Given the description of an element on the screen output the (x, y) to click on. 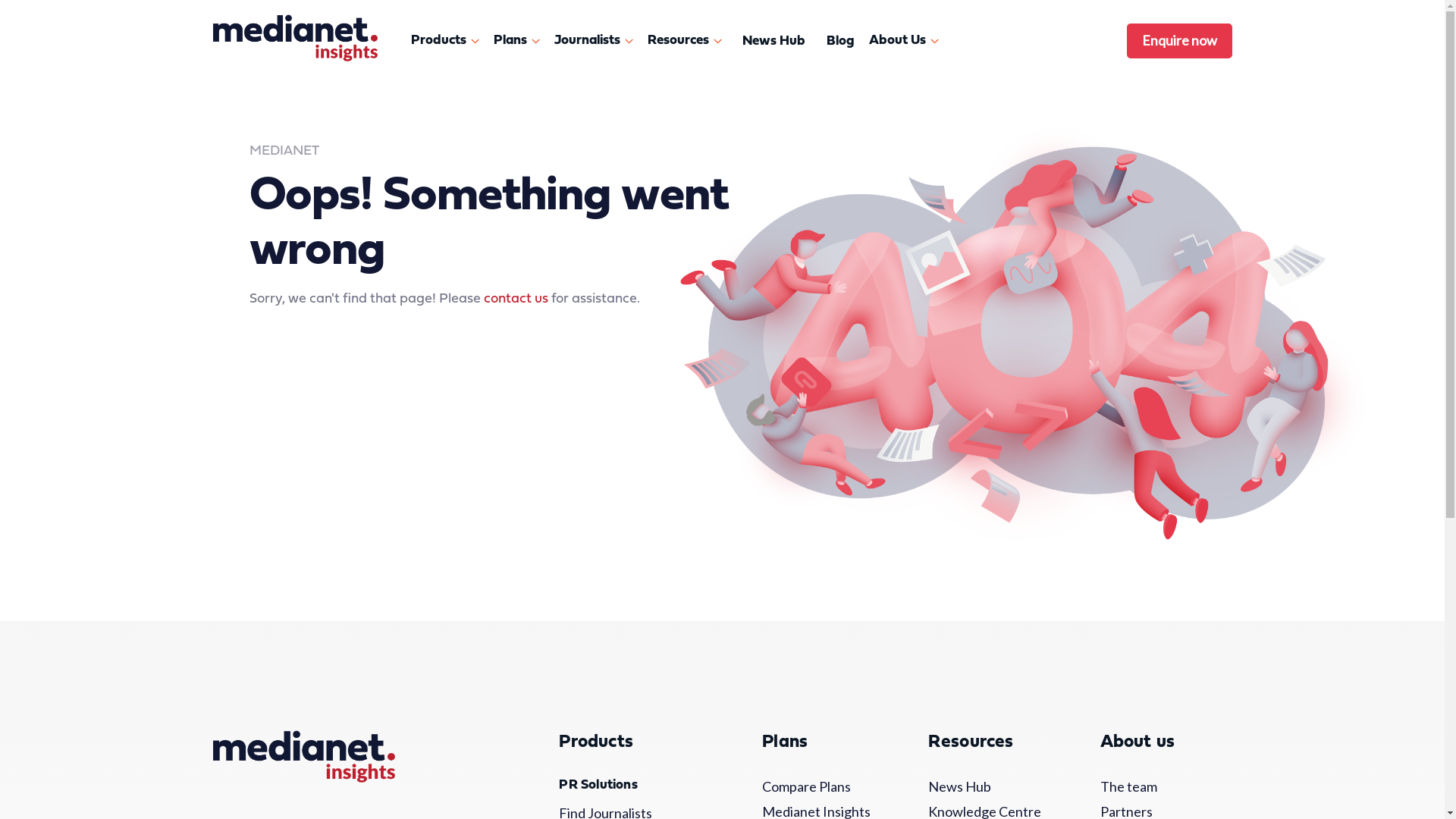
Journalists Element type: text (596, 40)
contact us Element type: text (515, 298)
About Us Element type: text (906, 40)
medianet-404 Element type: hover (1028, 339)
News Hub Element type: text (986, 786)
Plans Element type: text (519, 40)
Resources Element type: text (687, 40)
MedianetInsights Element type: hover (294, 37)
Enquire now Element type: text (1179, 39)
MedianetInsights_full-04 Element type: hover (303, 756)
Products Element type: text (447, 40)
News Hub Element type: text (773, 41)
Compare Plans Element type: text (817, 786)
Blog Element type: text (839, 41)
The team Element type: text (1155, 786)
